Given the description of an element on the screen output the (x, y) to click on. 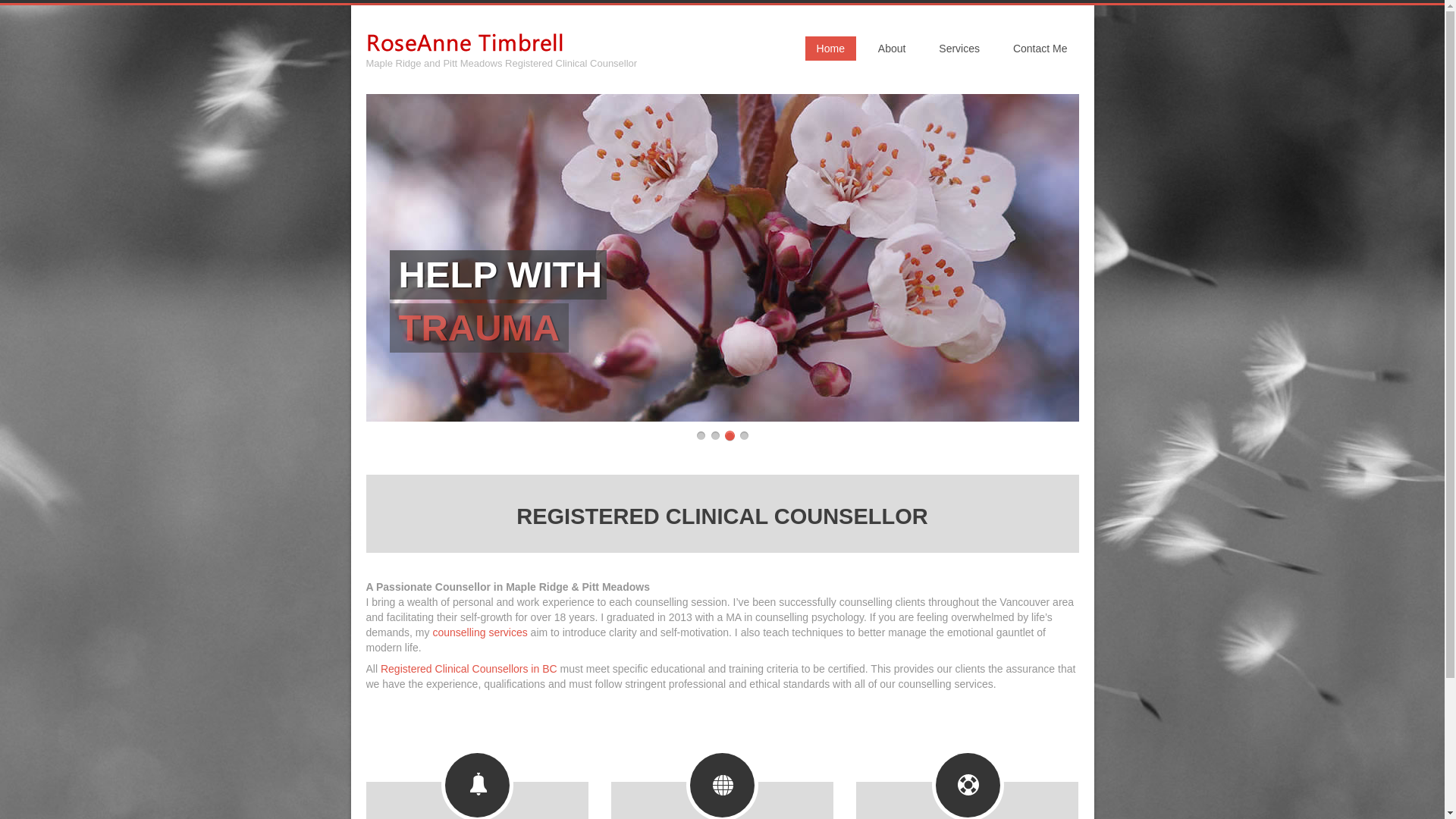
Registered Clinical Counsellors in BC (468, 668)
Home (830, 48)
Contact Me (1039, 48)
Services (721, 800)
RoseAnne Timbrell (959, 48)
About (463, 43)
counselling services (891, 48)
